Given the description of an element on the screen output the (x, y) to click on. 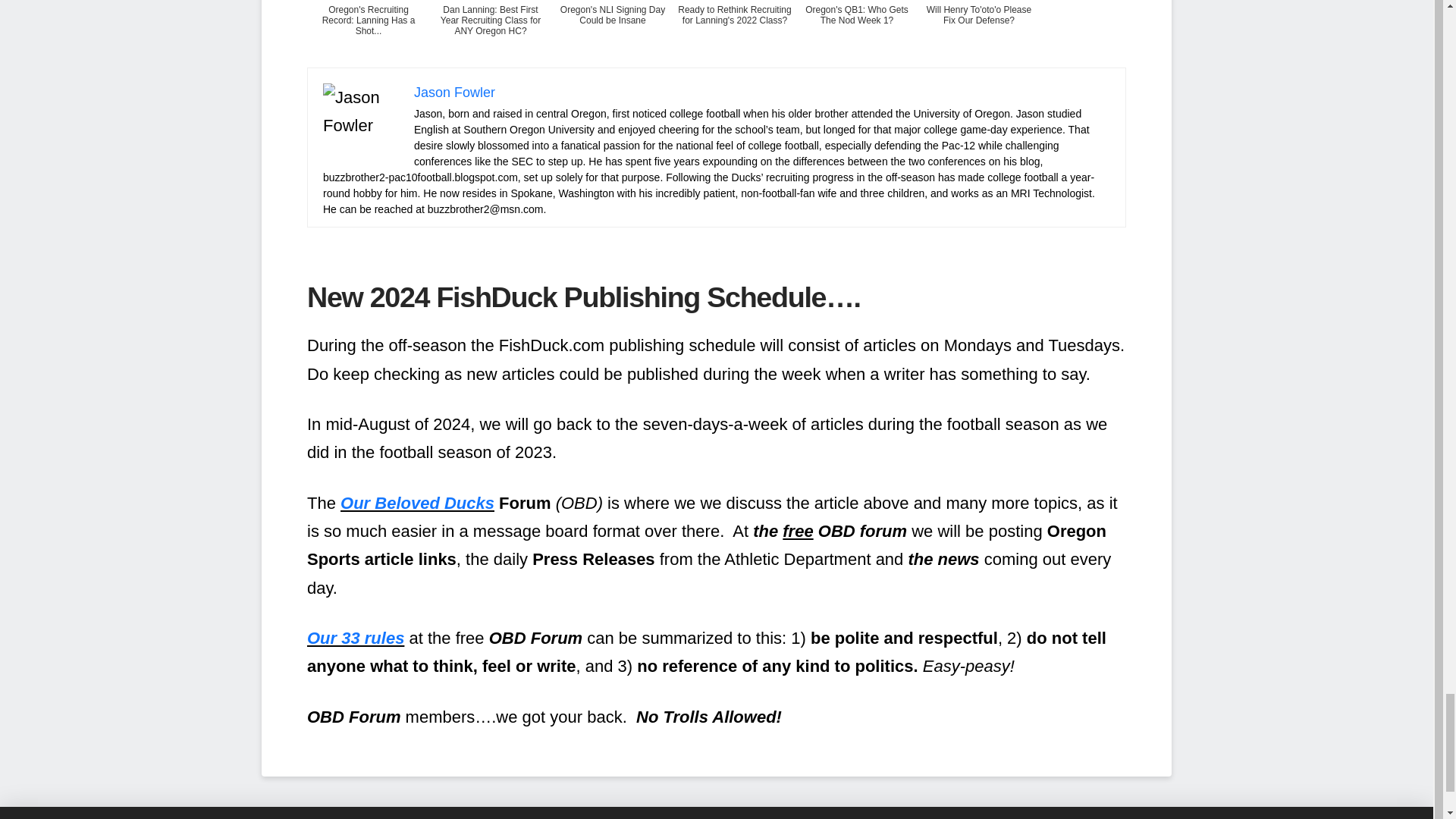
Our Beloved Ducks (417, 502)
Oregon's NLI Signing Day Could be Insane (612, 31)
Will Henry To'oto'o Please Fix Our Defense? (979, 31)
Oregon's QB1: Who Gets The Nod Week 1? (856, 31)
Oregon's Recruiting Record: Lanning Has a Shot... (368, 31)
Ready to Rethink Recruiting for Lanning's 2022 Class? (734, 31)
Jason Fowler (454, 92)
Our 33 rules (355, 637)
